Given the description of an element on the screen output the (x, y) to click on. 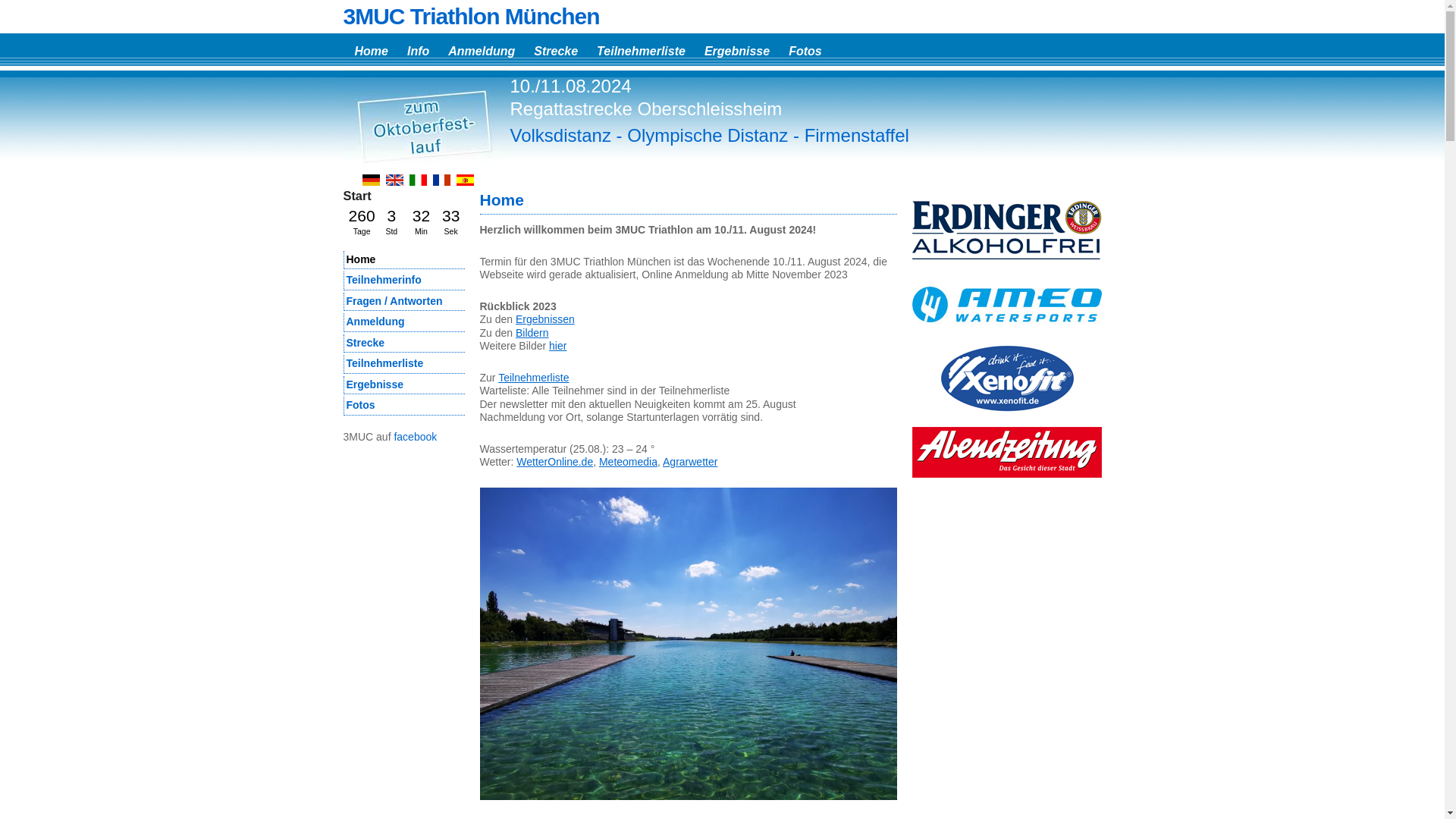
Info Element type: text (415, 48)
Home Element type: text (368, 48)
Meteomedia Element type: text (628, 461)
Strecke Element type: text (553, 48)
xenofit Element type: hover (1006, 378)
facebook Element type: text (414, 436)
Ergebnissen Element type: text (544, 319)
Home Element type: text (501, 199)
WetterOnline.de Element type: text (554, 461)
Fragen / Antworten Element type: text (403, 301)
Anmeldung Element type: text (403, 322)
Anmeldung Element type: text (479, 48)
erdinger Element type: hover (1006, 229)
Teilnehmerinfo Element type: text (403, 280)
Teilnehmerliste Element type: text (639, 48)
Fotos Element type: text (403, 405)
hier Element type: text (557, 345)
abendzeitung Element type: hover (1006, 452)
Ergebnisse Element type: text (403, 385)
Teilnehmerliste Element type: text (533, 377)
Home Element type: text (403, 259)
Ergebnisse Element type: text (735, 48)
Teilnehmerliste Element type: text (403, 363)
Fotos Element type: text (803, 48)
Agrarwetter Element type: text (689, 461)
Strecke Element type: text (403, 342)
Bildern Element type: text (532, 332)
AMEO-250x90 Element type: hover (1006, 303)
